Given the description of an element on the screen output the (x, y) to click on. 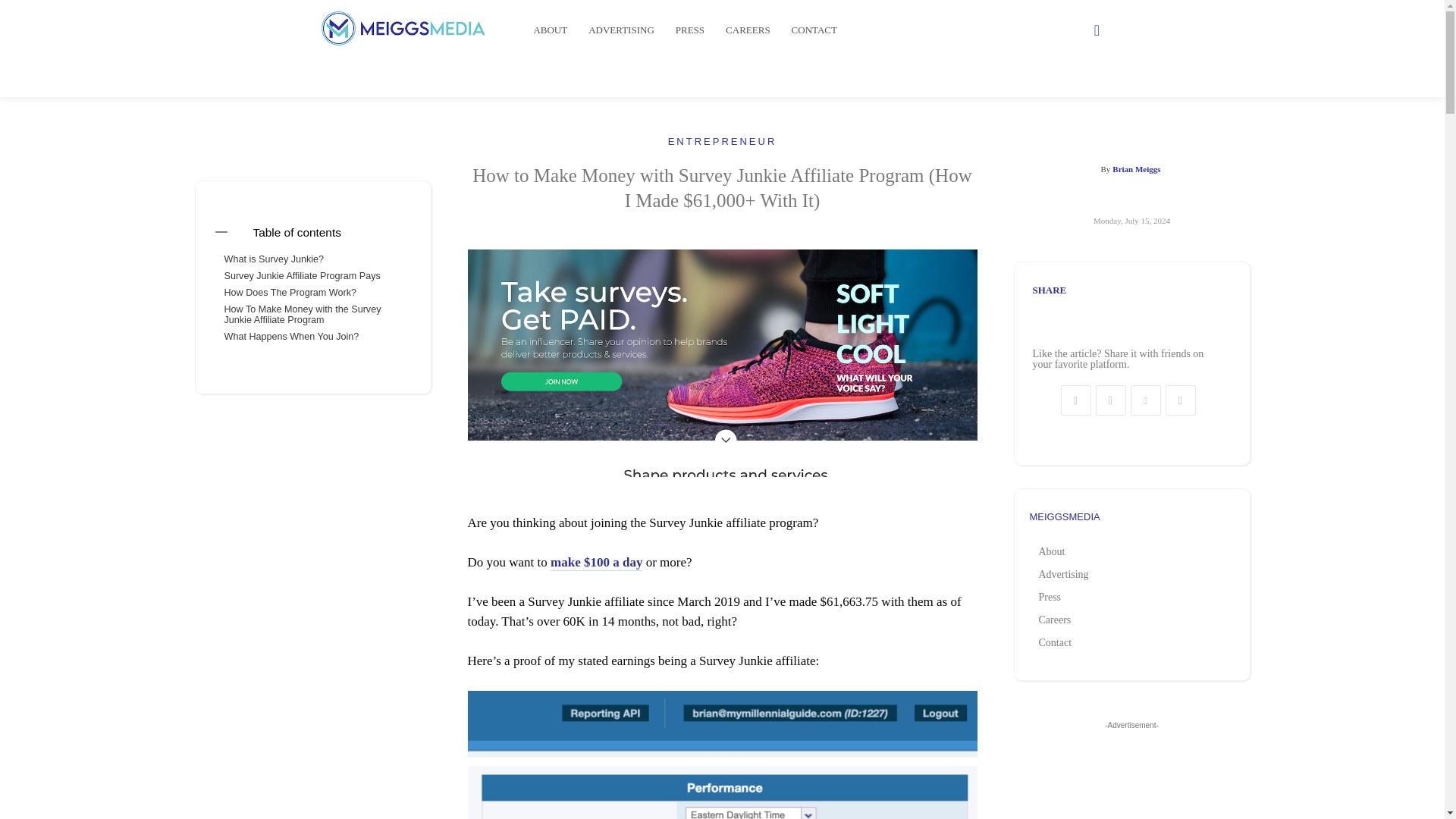
What Happens When You Join? (291, 336)
ENTREPRENEUR (722, 141)
Survey Junkie Affiliate Program Pays (302, 276)
PRESS (689, 30)
How Does The Program Work? (290, 292)
Facebook (1074, 399)
Linkedin (1179, 399)
How To Make Money with the Survey Junkie Affiliate Program (312, 314)
View all posts in Entrepreneur (722, 141)
Twitter (1109, 399)
Survey Junkie Affiliate Program Pays (302, 276)
Pinterest (1144, 399)
ABOUT (550, 30)
What Happens When You Join? (291, 336)
CONTACT (813, 30)
